Given the description of an element on the screen output the (x, y) to click on. 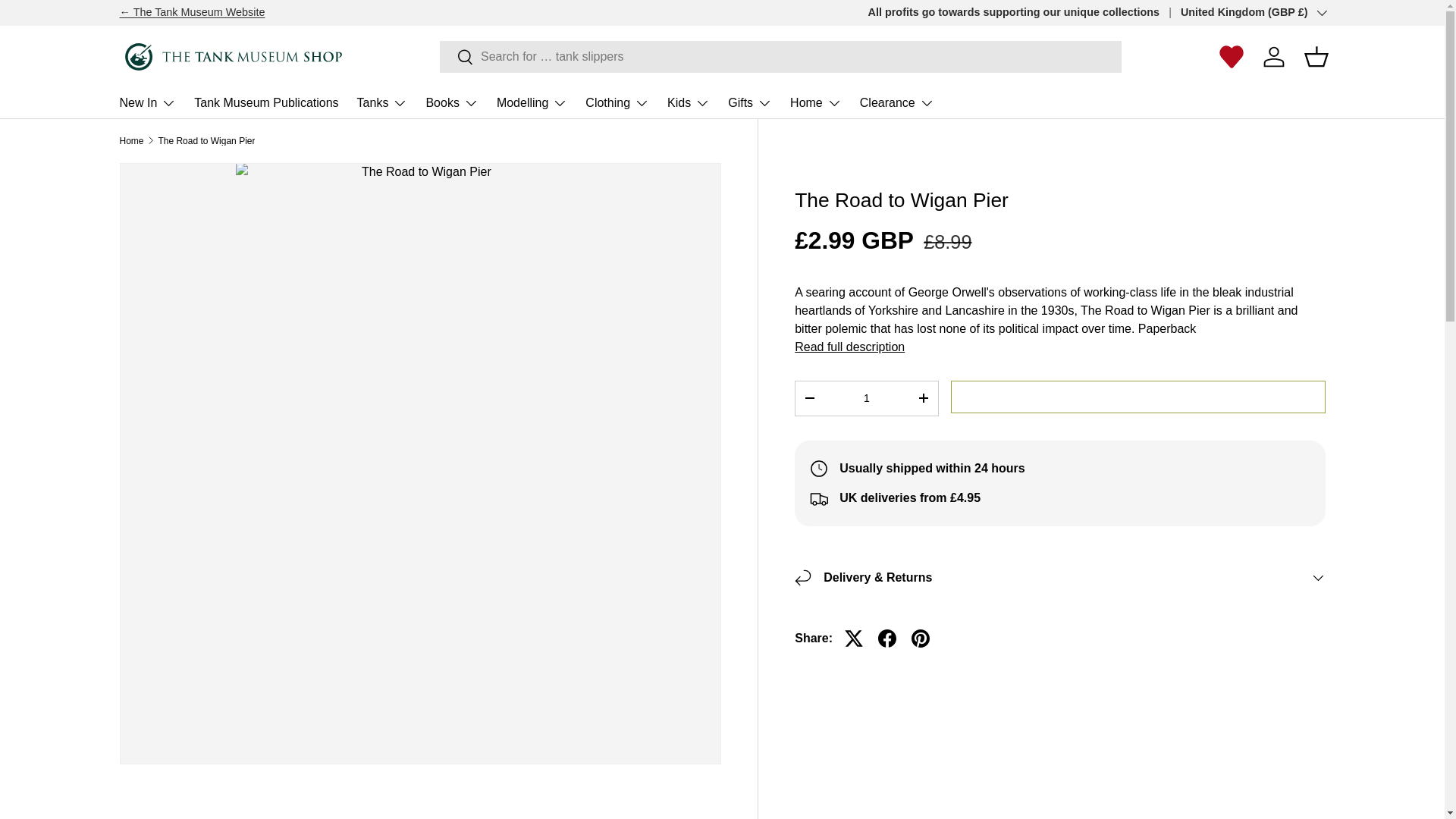
Pin on Pinterest (920, 638)
New In (147, 102)
Tanks (381, 102)
Log in (1273, 56)
Share on Facebook (887, 638)
SKIP TO CONTENT (68, 21)
1 (866, 398)
Tank Museum Publications (265, 102)
Search (456, 58)
Tweet on X (853, 638)
